Given the description of an element on the screen output the (x, y) to click on. 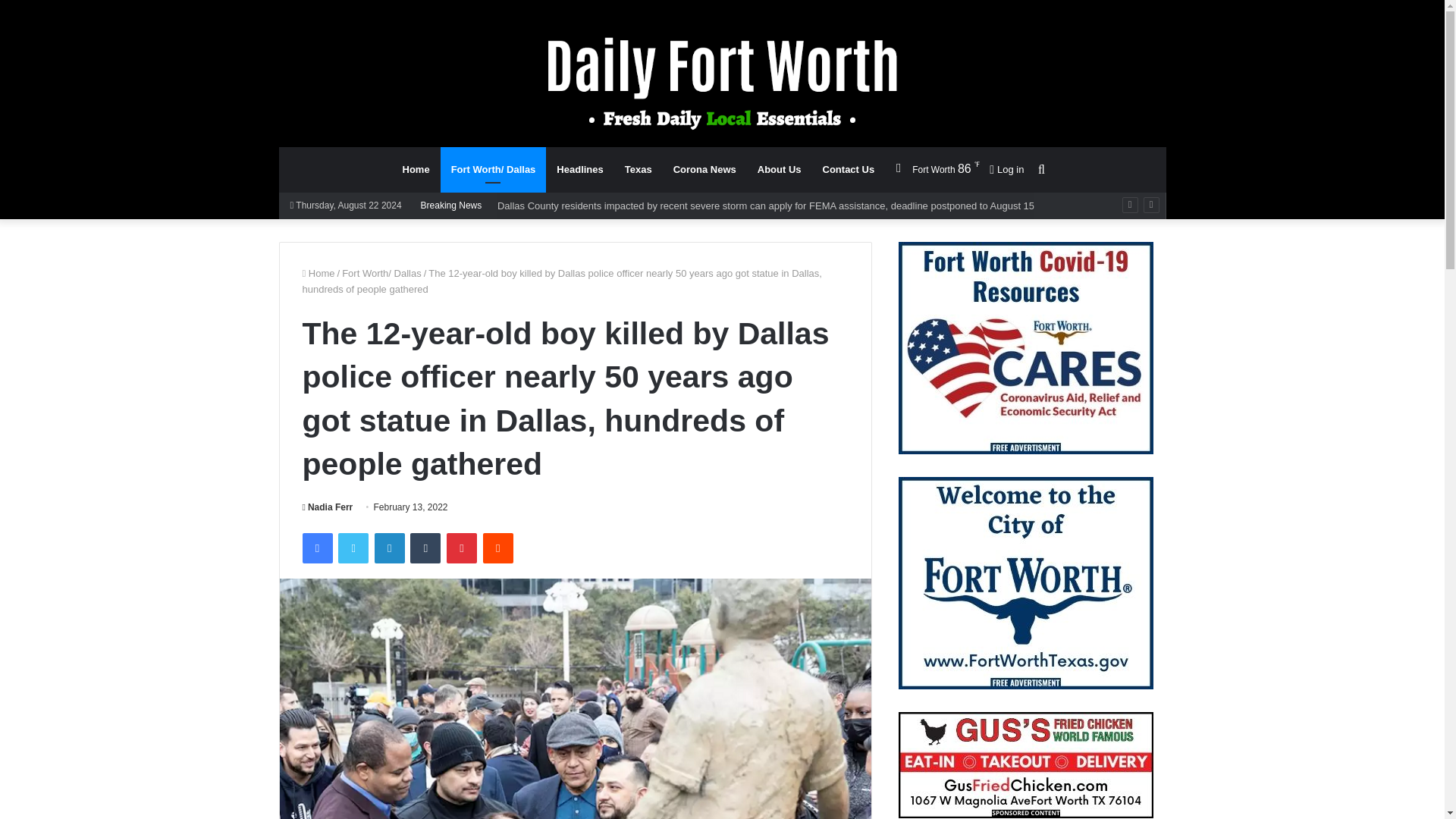
Tumblr (425, 548)
Twitter (352, 548)
Headlines (579, 169)
About Us (779, 169)
Contact Us (848, 169)
Corona News (704, 169)
Pinterest (461, 548)
Facebook (316, 548)
Reddit (498, 548)
